Given the description of an element on the screen output the (x, y) to click on. 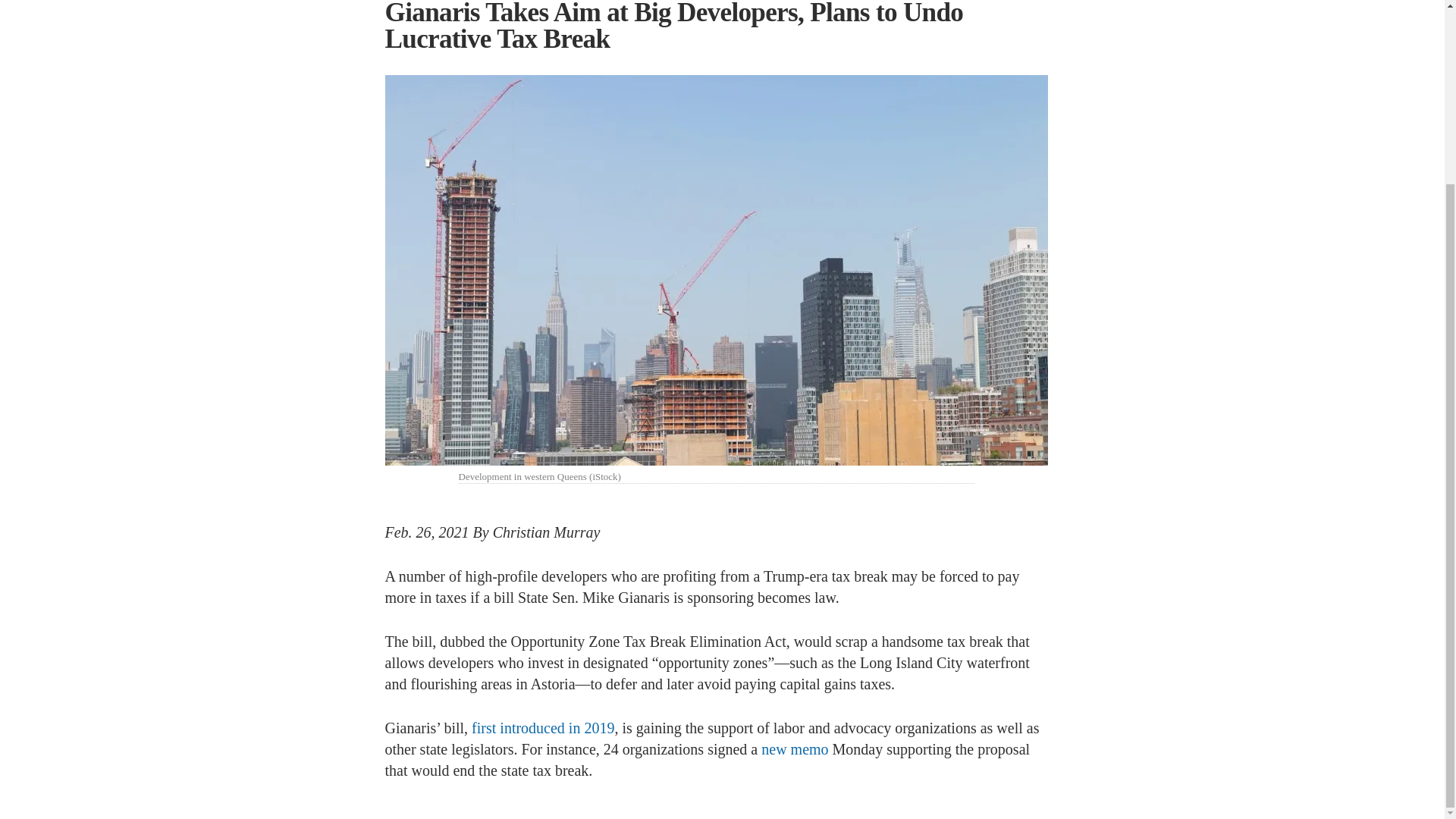
new memo (794, 749)
first introduced in 2019 (542, 727)
